Given the description of an element on the screen output the (x, y) to click on. 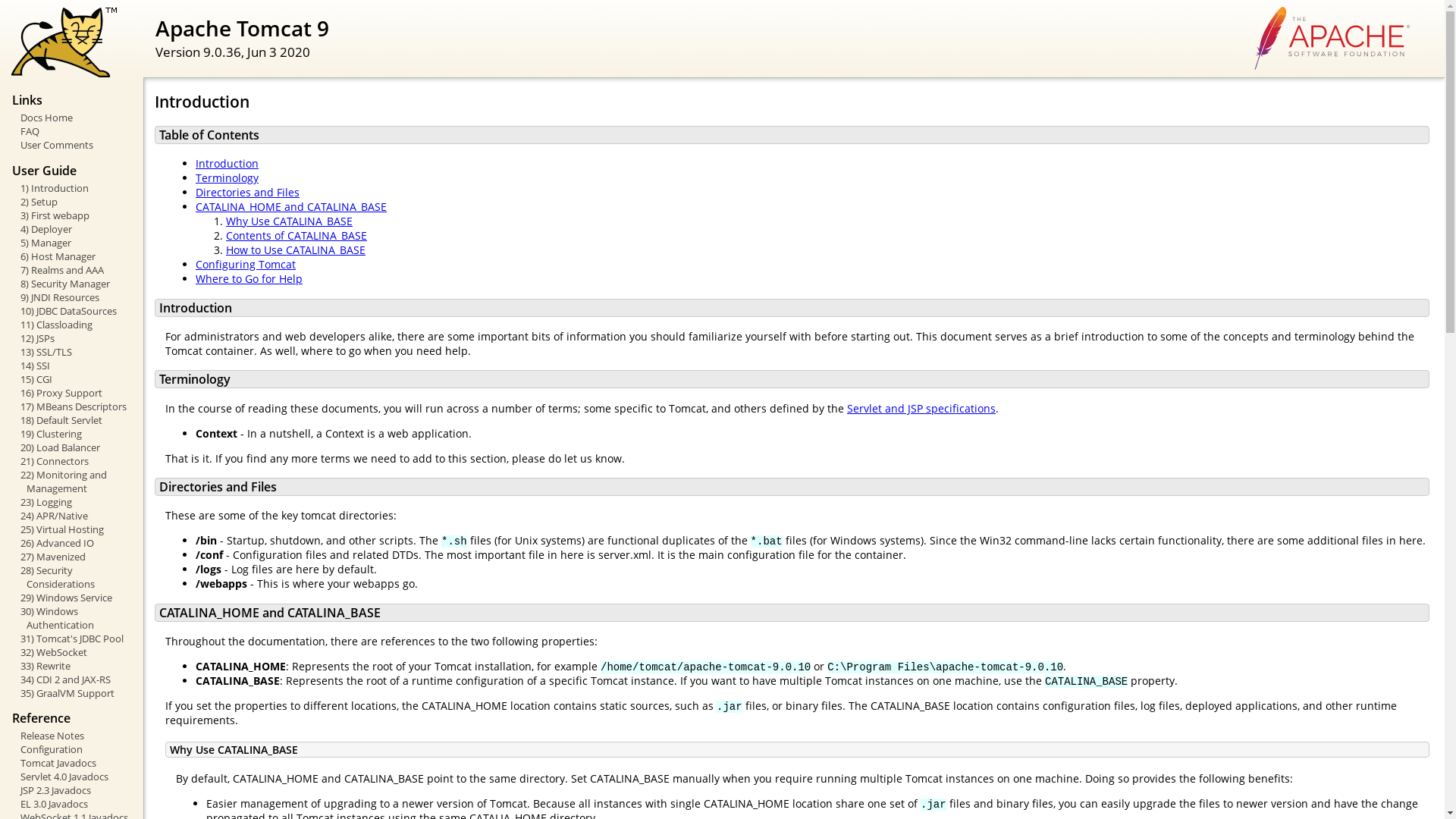
13) SSL/TLS Element type: text (72, 351)
3) First webapp Element type: text (72, 215)
How to Use CATALINA_BASE Element type: text (295, 249)
8) Security Manager Element type: text (72, 283)
6) Host Manager Element type: text (72, 256)
Configuring Tomcat Element type: text (245, 264)
34) CDI 2 and JAX-RS Element type: text (72, 679)
Why Use CATALINA_BASE Element type: text (288, 220)
Directories and Files Element type: text (247, 192)
24) APR/Native Element type: text (72, 515)
26) Advanced IO Element type: text (72, 542)
30) Windows Authentication Element type: text (72, 617)
10) JDBC DataSources Element type: text (72, 310)
12) JSPs Element type: text (72, 338)
33) Rewrite Element type: text (72, 665)
35) GraalVM Support Element type: text (72, 692)
31) Tomcat's JDBC Pool Element type: text (72, 638)
Contents of CATALINA_BASE Element type: text (296, 235)
User Comments Element type: text (72, 144)
32) WebSocket Element type: text (72, 651)
15) CGI Element type: text (72, 378)
9) JNDI Resources Element type: text (72, 297)
Servlet 4.0 Javadocs Element type: text (72, 776)
25) Virtual Hosting Element type: text (72, 529)
Configuration Element type: text (72, 749)
Where to Go for Help Element type: text (248, 278)
16) Proxy Support Element type: text (72, 392)
5) Manager Element type: text (72, 242)
Docs Home Element type: text (72, 117)
JSP 2.3 Javadocs Element type: text (72, 790)
20) Load Balancer Element type: text (72, 447)
23) Logging Element type: text (72, 501)
Servlet and JSP specifications Element type: text (921, 408)
CATALINA_HOME and CATALINA_BASE Element type: text (290, 206)
1) Introduction Element type: text (72, 187)
28) Security Considerations Element type: text (72, 576)
29) Windows Service Element type: text (72, 597)
7) Realms and AAA Element type: text (72, 269)
22) Monitoring and Management Element type: text (72, 481)
19) Clustering Element type: text (72, 433)
Introduction Element type: text (226, 163)
11) Classloading Element type: text (72, 324)
2) Setup Element type: text (72, 201)
FAQ Element type: text (72, 131)
27) Mavenized Element type: text (72, 556)
Release Notes Element type: text (72, 735)
14) SSI Element type: text (72, 365)
Tomcat Javadocs Element type: text (72, 762)
4) Deployer Element type: text (72, 228)
Terminology Element type: text (226, 177)
17) MBeans Descriptors Element type: text (72, 406)
EL 3.0 Javadocs Element type: text (72, 803)
21) Connectors Element type: text (72, 460)
18) Default Servlet Element type: text (72, 419)
